Given the description of an element on the screen output the (x, y) to click on. 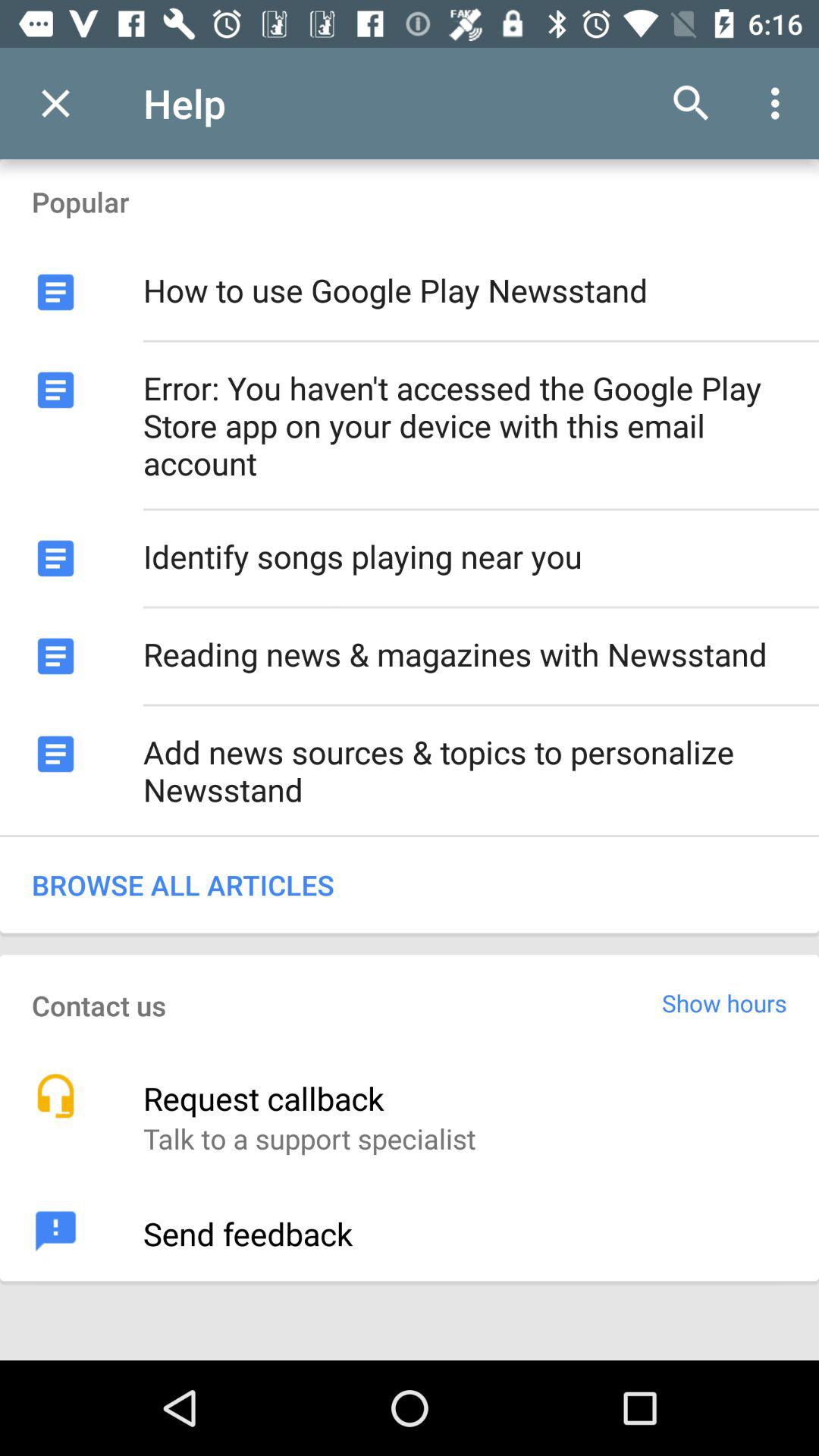
press the item above the how to use item (691, 103)
